Given the description of an element on the screen output the (x, y) to click on. 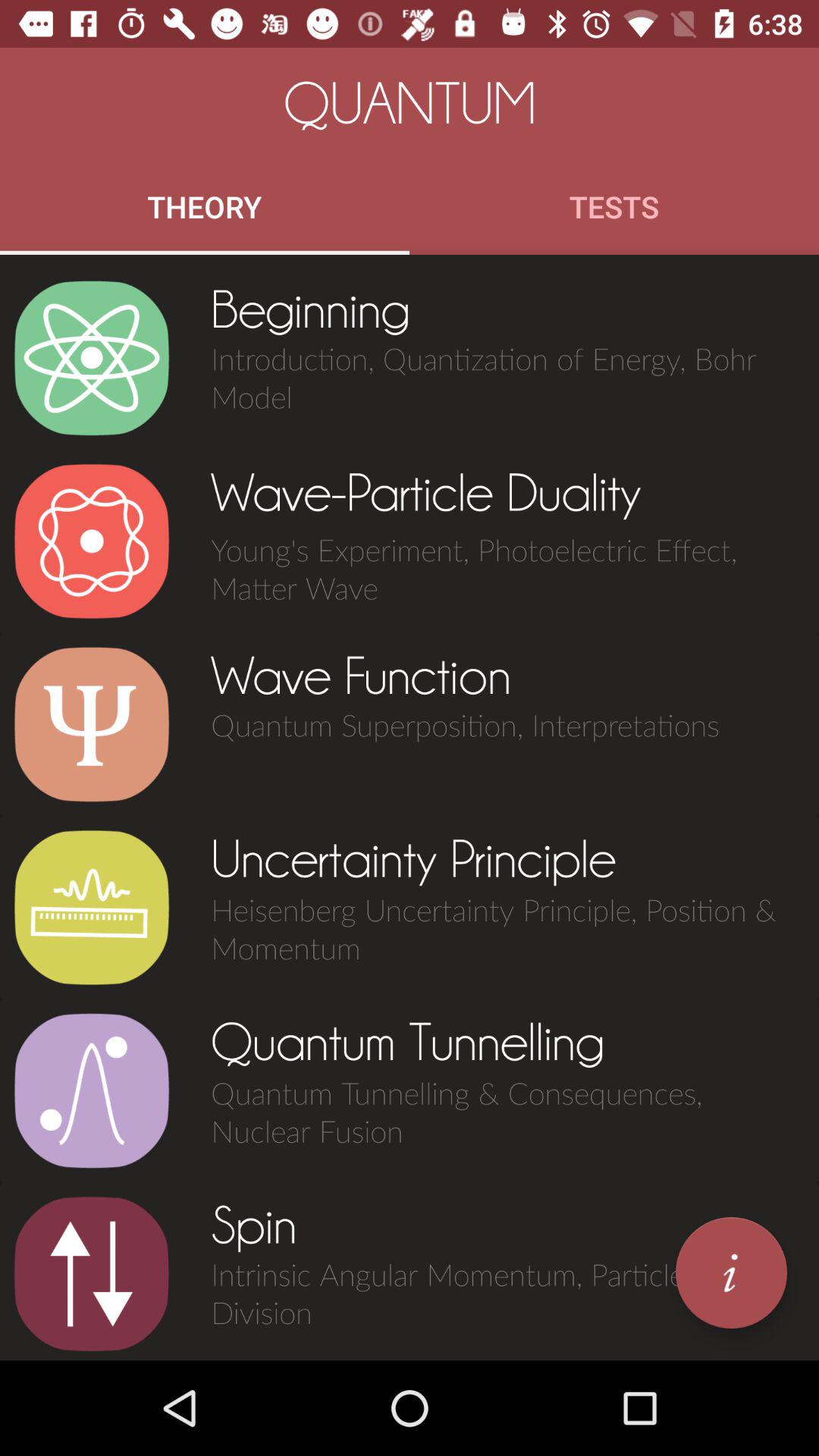
choose upward and downward (91, 1273)
